Given the description of an element on the screen output the (x, y) to click on. 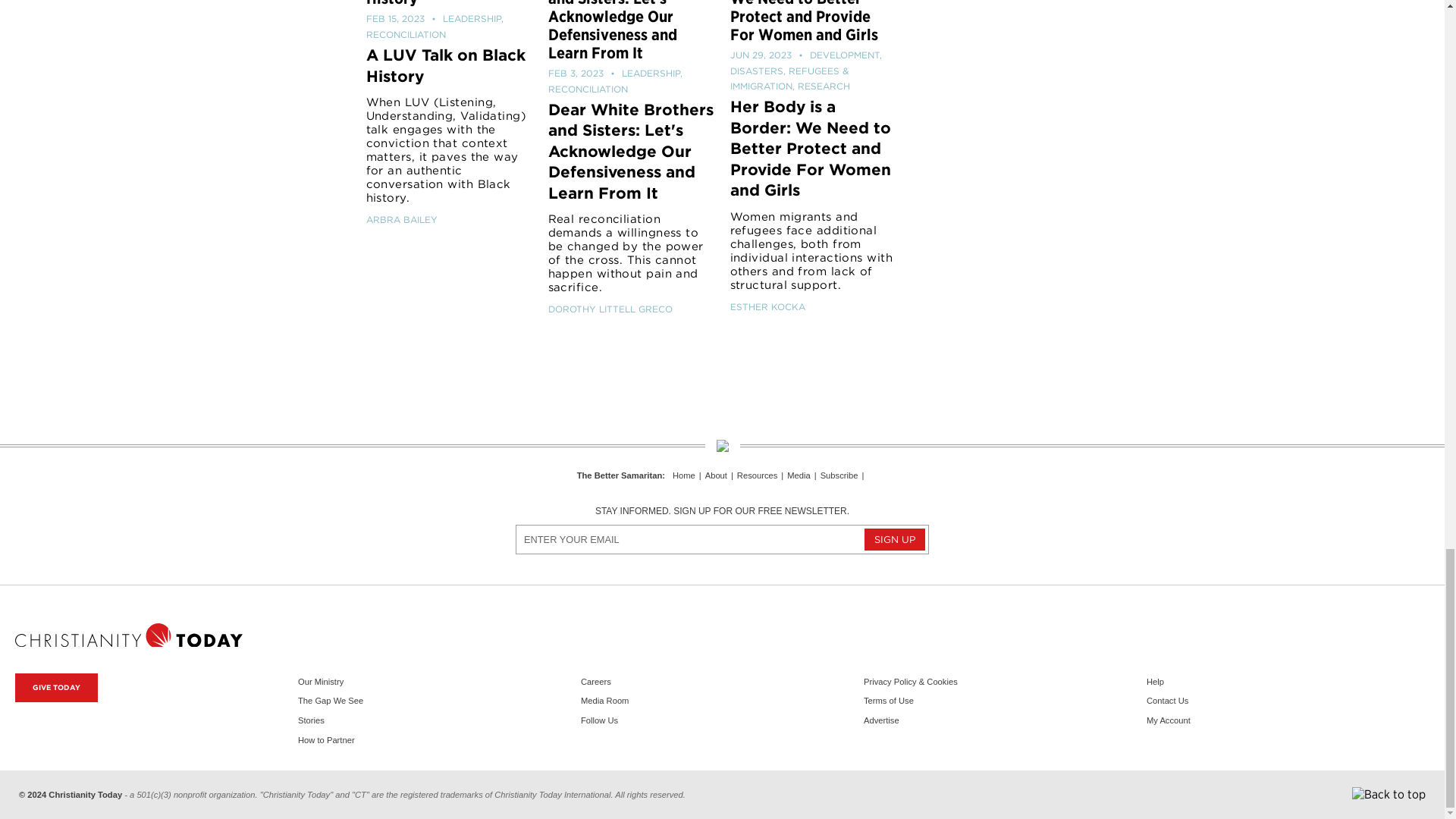
Sign Up (894, 539)
